Given the description of an element on the screen output the (x, y) to click on. 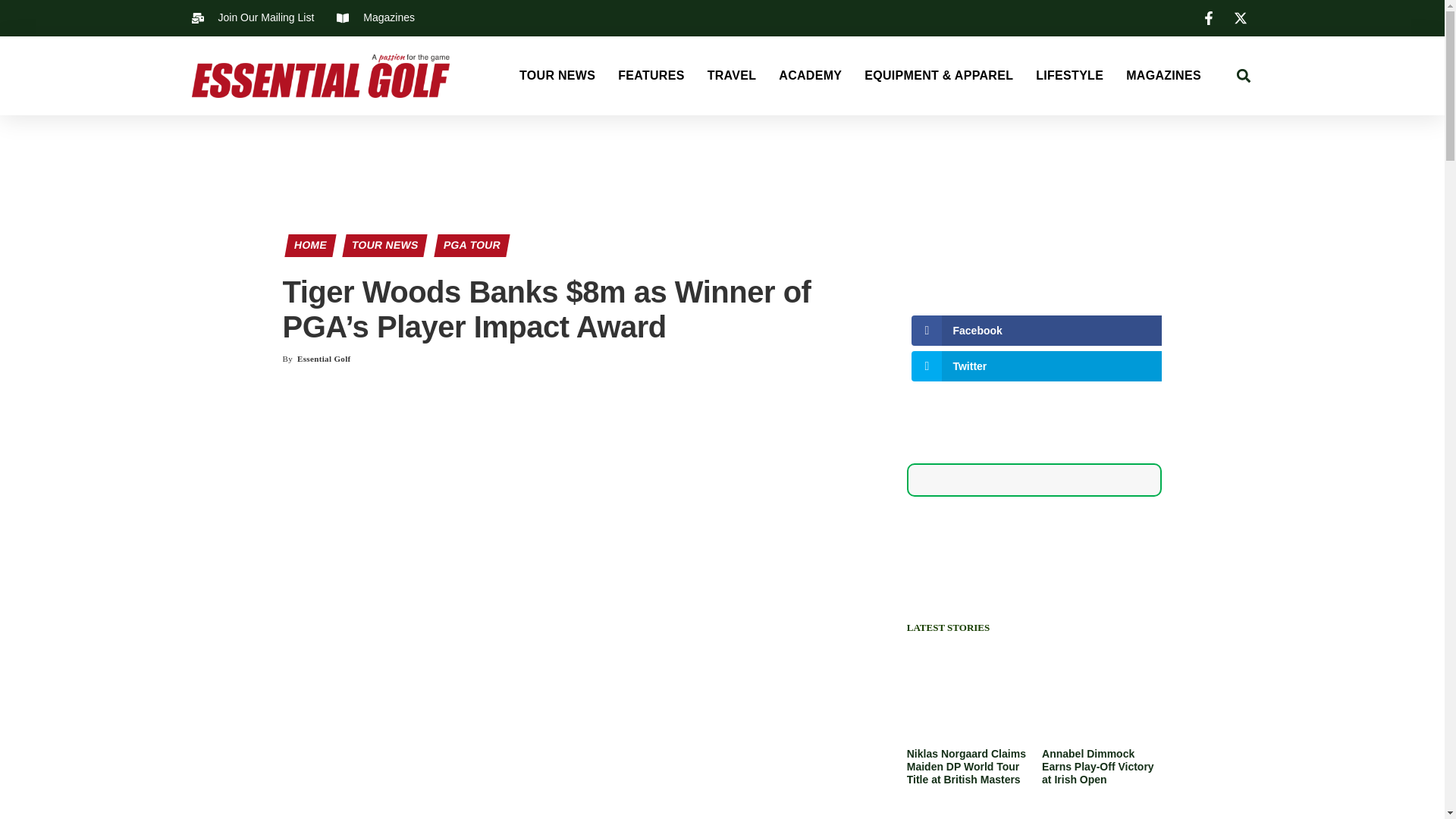
ACADEMY (809, 75)
FEATURES (650, 75)
TOUR NEWS (557, 75)
LIFESTYLE (1069, 75)
Join Our Mailing List (252, 18)
TRAVEL (732, 75)
Magazines (375, 18)
MAGAZINES (1163, 75)
